Given the description of an element on the screen output the (x, y) to click on. 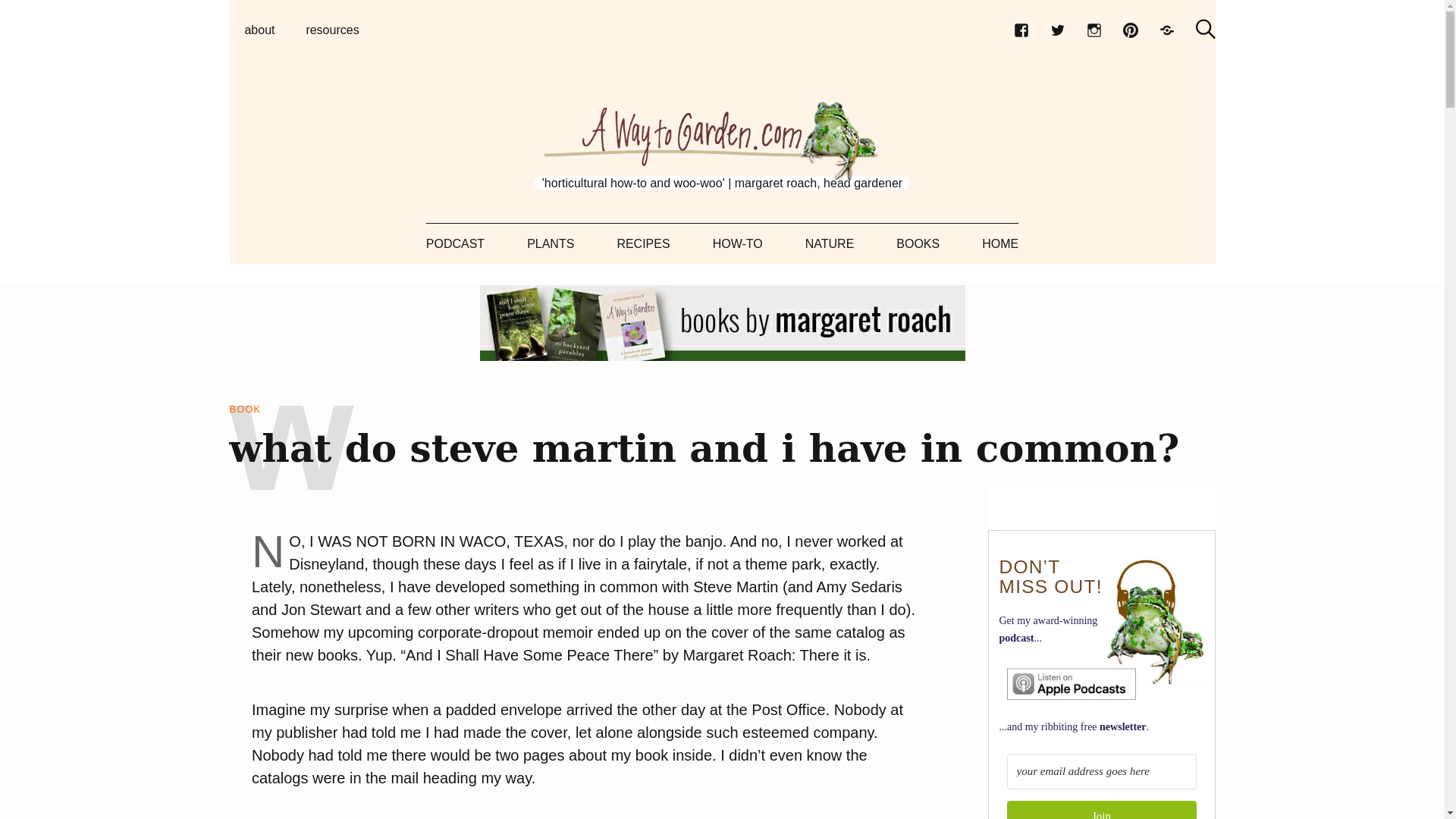
PODCAST (455, 243)
PLANTS (550, 243)
A Way To Garden Podcast (1071, 684)
Feed (1165, 29)
Book (244, 409)
BOOK (244, 409)
HOW-TO (737, 243)
about (258, 29)
Twitter (1056, 29)
HOME (999, 243)
NATURE (829, 243)
Facebook (1020, 29)
Pintrest (1129, 29)
resources (331, 29)
RECIPES (642, 243)
